Given the description of an element on the screen output the (x, y) to click on. 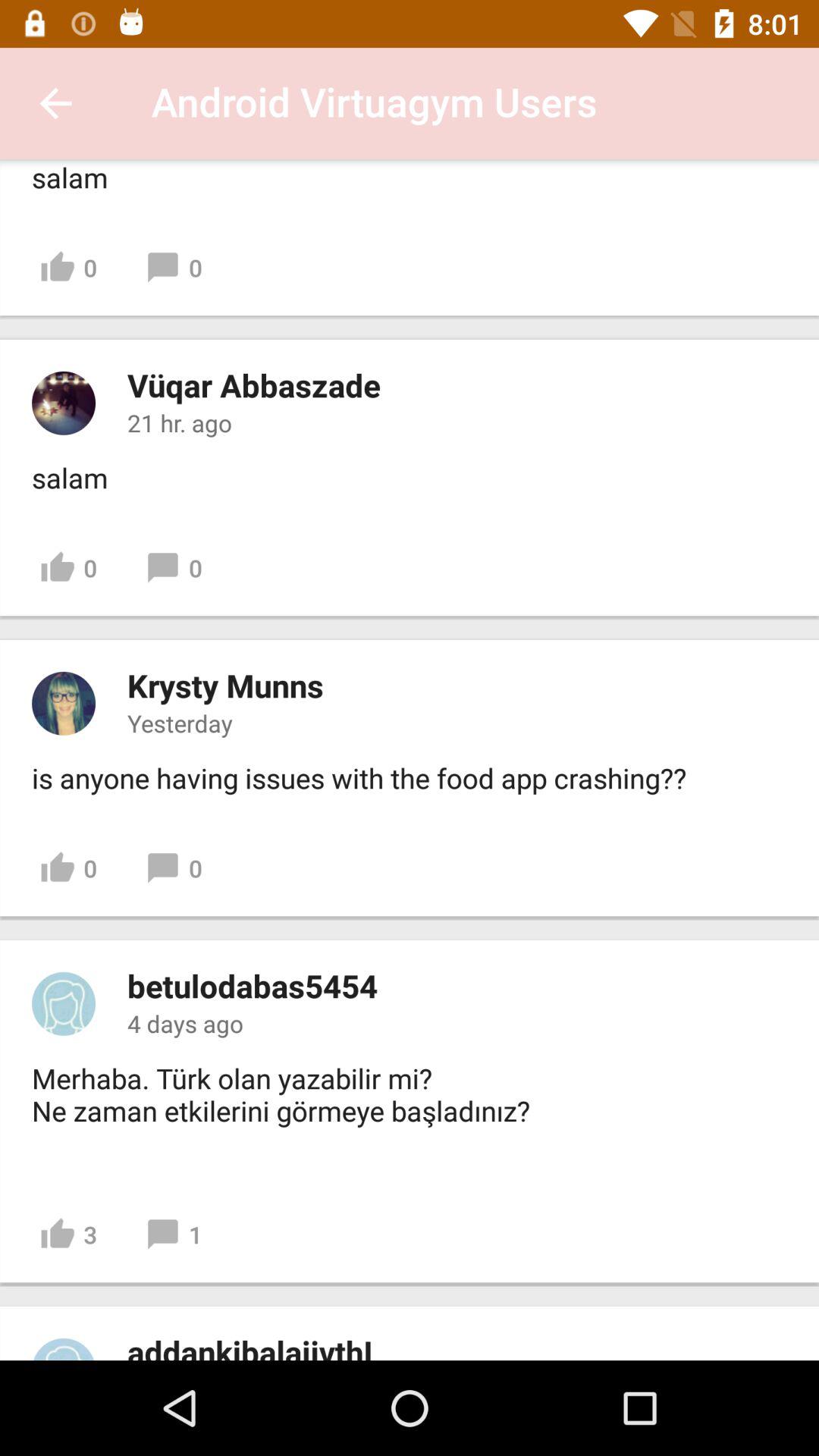
open profile (63, 1349)
